Given the description of an element on the screen output the (x, y) to click on. 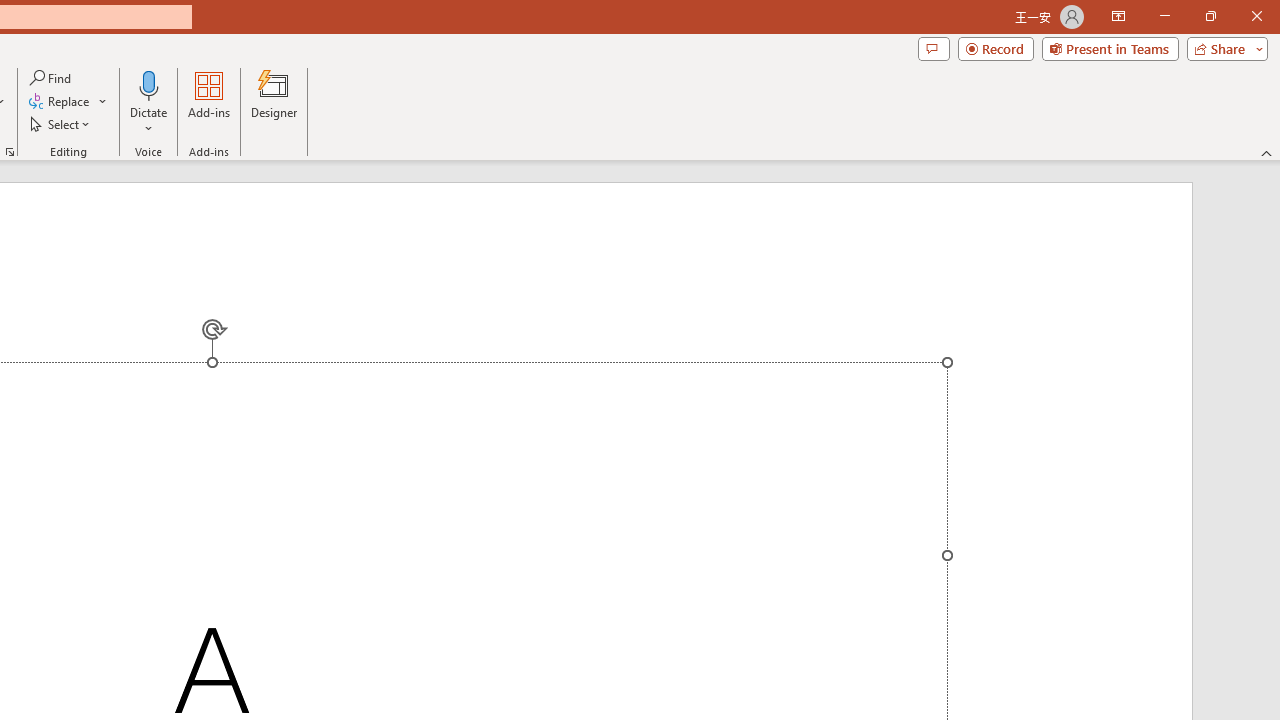
Designer (274, 102)
Find... (51, 78)
Restore Down (1210, 16)
Replace... (68, 101)
